Given the description of an element on the screen output the (x, y) to click on. 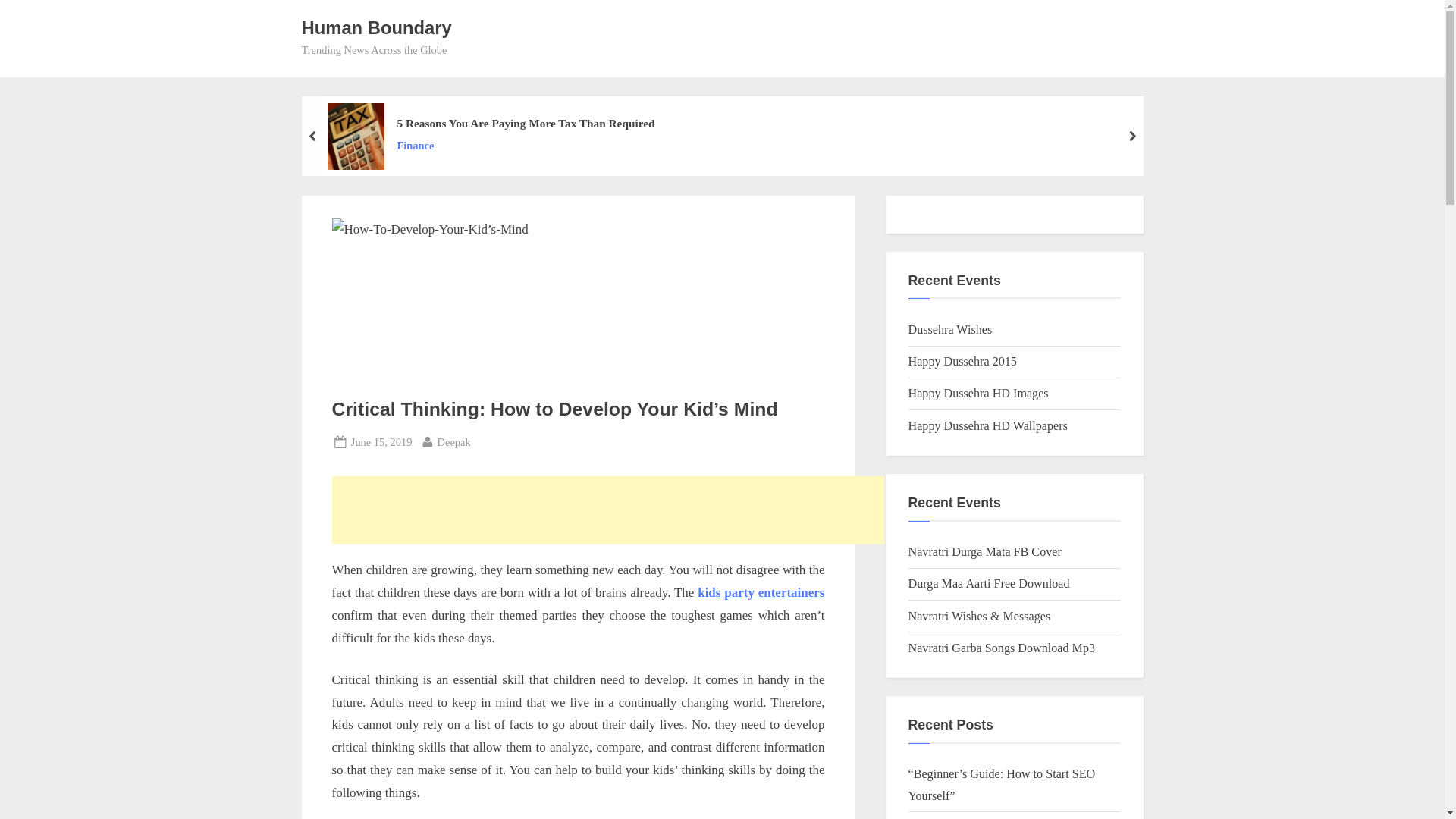
Human Boundary (376, 27)
Finance (381, 442)
kids party entertainers (524, 145)
5 Reasons You Are Paying More Tax Than Required (454, 442)
